Given the description of an element on the screen output the (x, y) to click on. 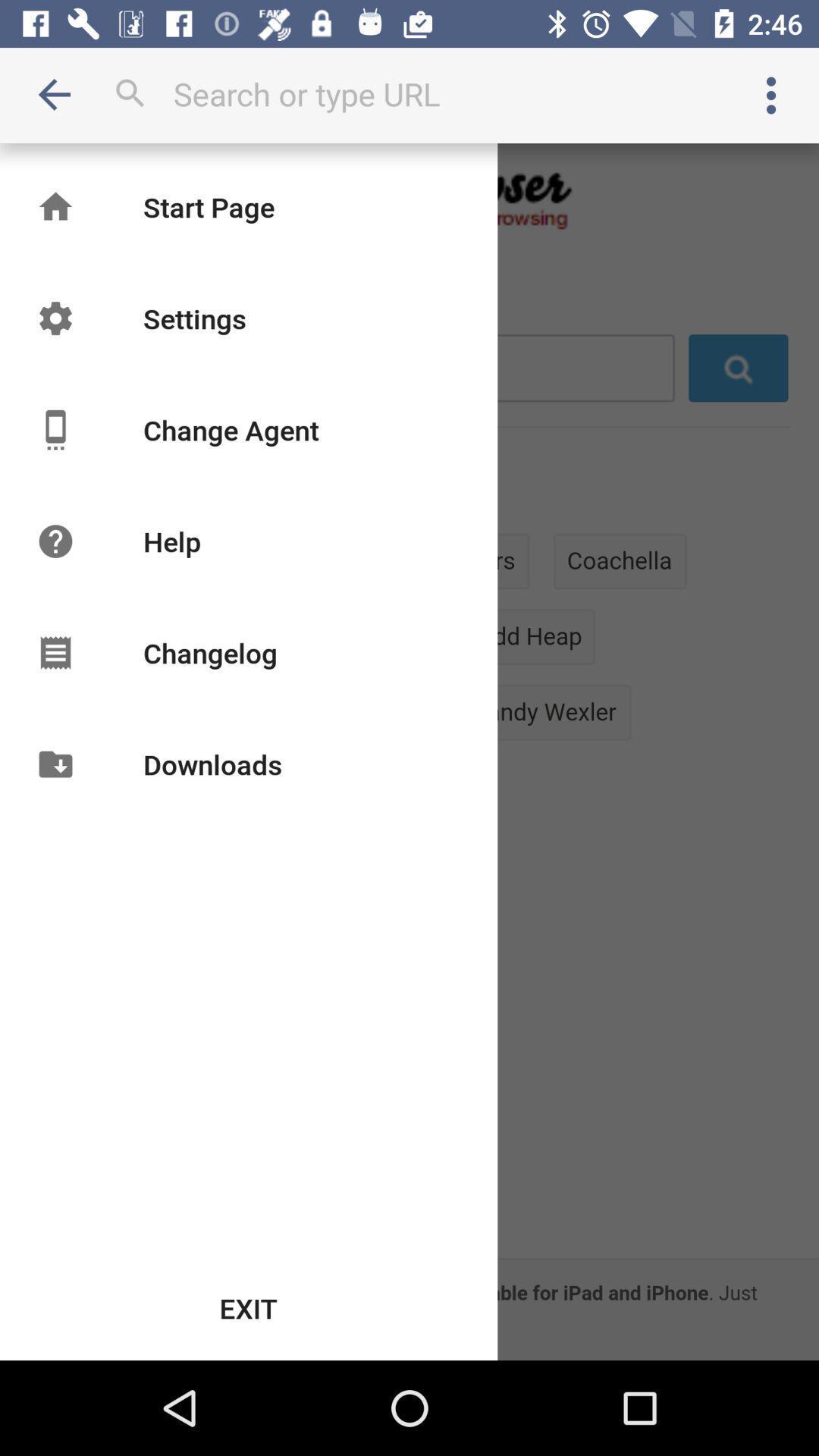
choose start page icon (208, 206)
